Given the description of an element on the screen output the (x, y) to click on. 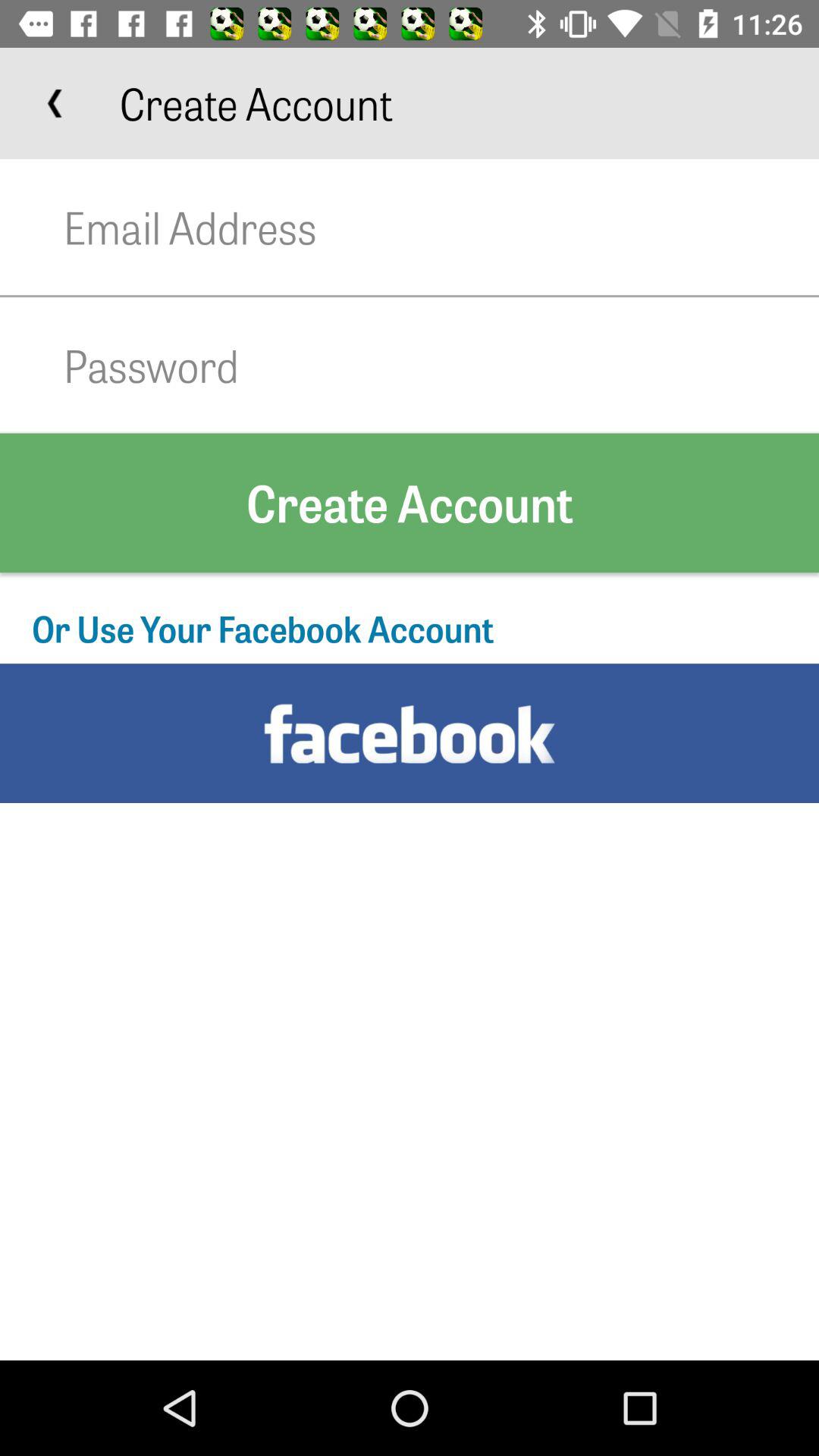
enter e-mail address (441, 227)
